Given the description of an element on the screen output the (x, y) to click on. 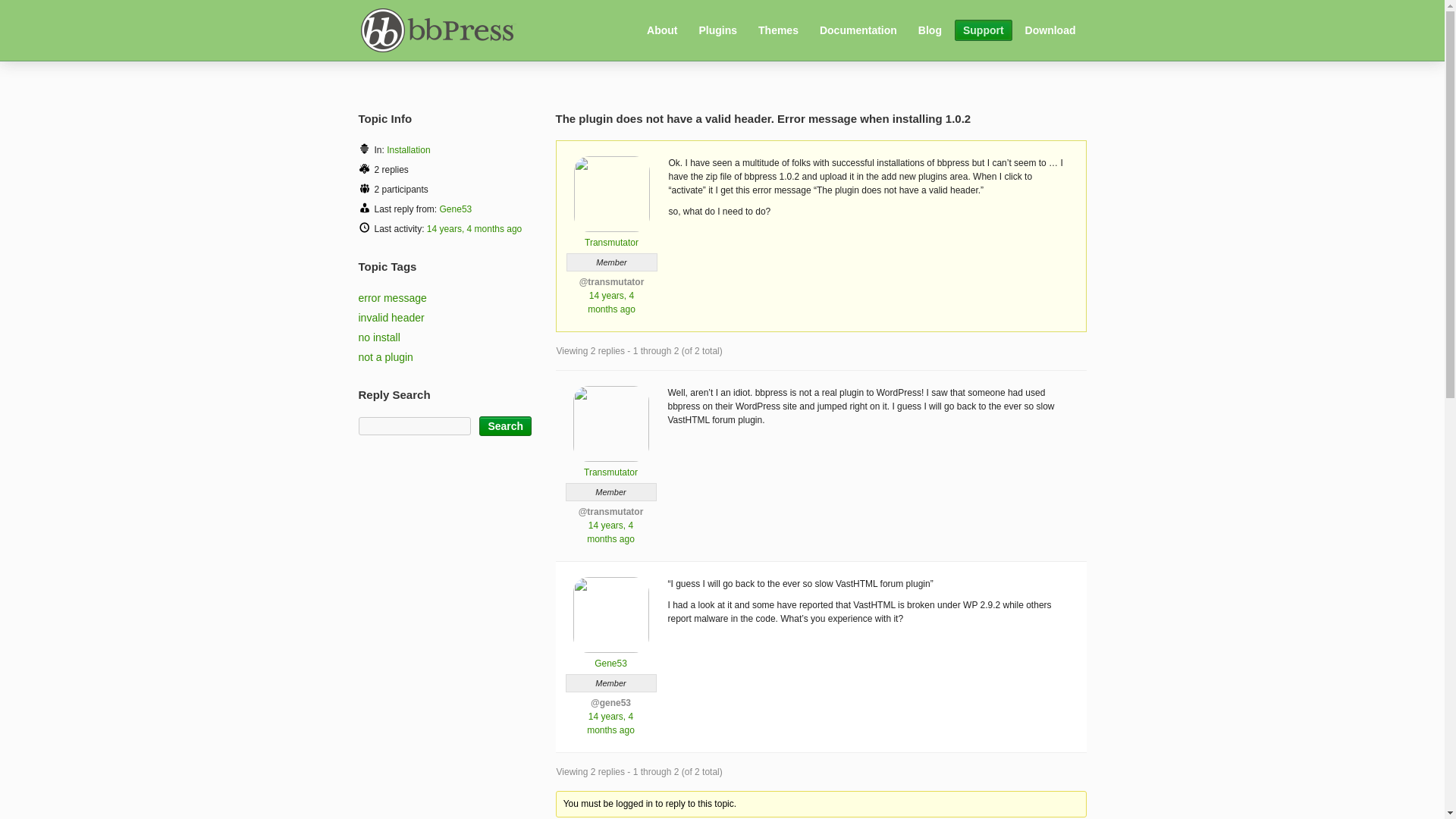
not a plugin (385, 357)
Transmutator (611, 236)
Gene53 (455, 208)
14 years, 4 months ago (473, 228)
Search (505, 425)
Download (1050, 29)
Documentation (857, 29)
14 years, 4 months ago (610, 723)
14 years, 4 months ago (610, 532)
error message (392, 297)
Gene53 (609, 657)
Support (983, 29)
Plugins (717, 29)
invalid header (390, 317)
bbPress.org (441, 29)
